Given the description of an element on the screen output the (x, y) to click on. 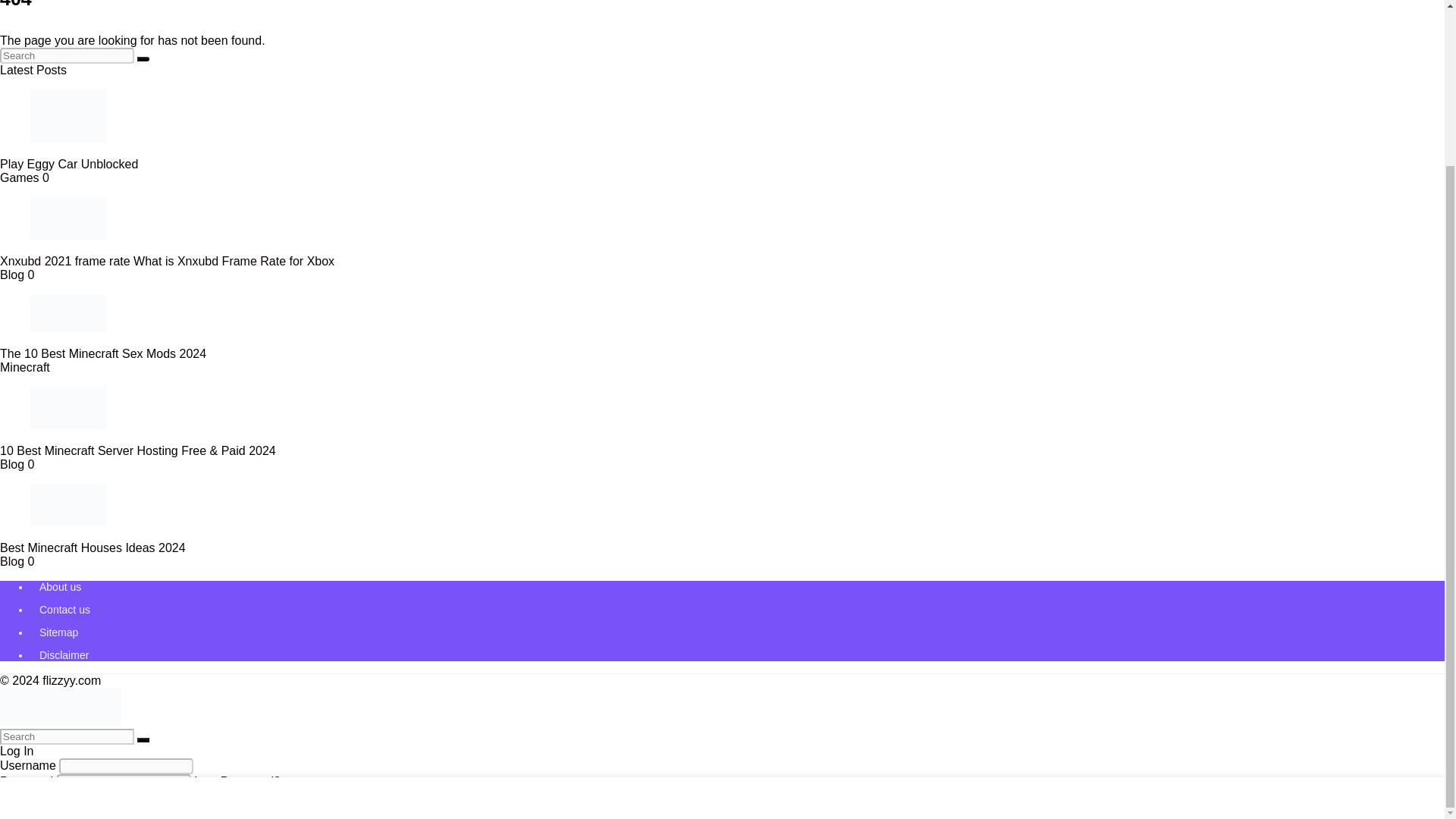
Sitemap (58, 632)
Disclaimer (63, 654)
Minecraft (24, 367)
Lost Password? (237, 780)
Play Eggy Car Unblocked (69, 164)
Blog (12, 463)
forever (7, 797)
Games (19, 177)
Best Minecraft Houses Ideas 2024 (93, 547)
Blog (12, 274)
